Given the description of an element on the screen output the (x, y) to click on. 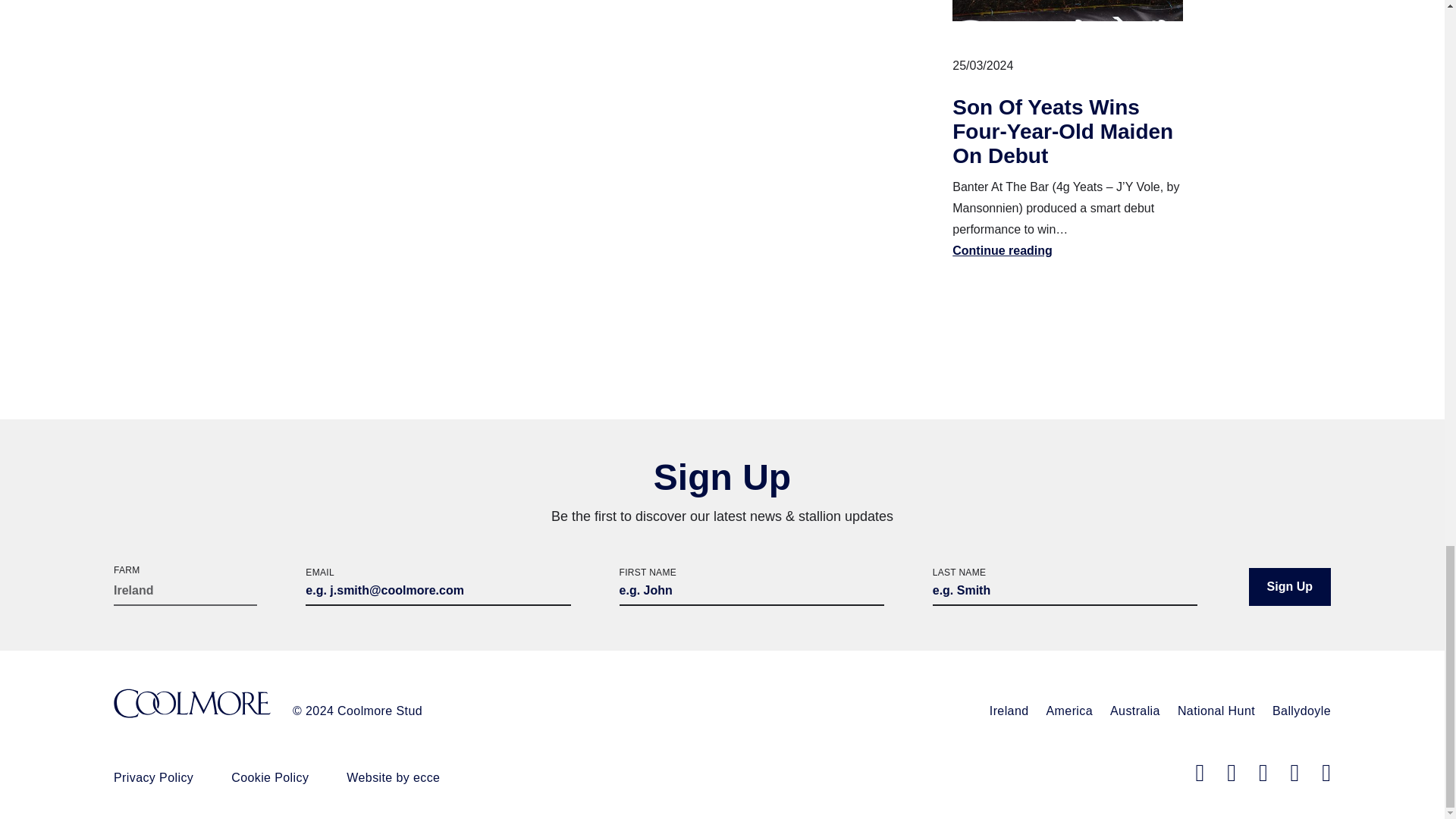
Website by ecce (392, 777)
Ballydoyle (1301, 710)
Australia (1134, 710)
America (1069, 710)
National Hunt (1216, 710)
Ireland (1009, 710)
Coolmore (191, 704)
Cookie Policy (269, 777)
Sign Up (1289, 587)
Privacy Policy (153, 777)
